Given the description of an element on the screen output the (x, y) to click on. 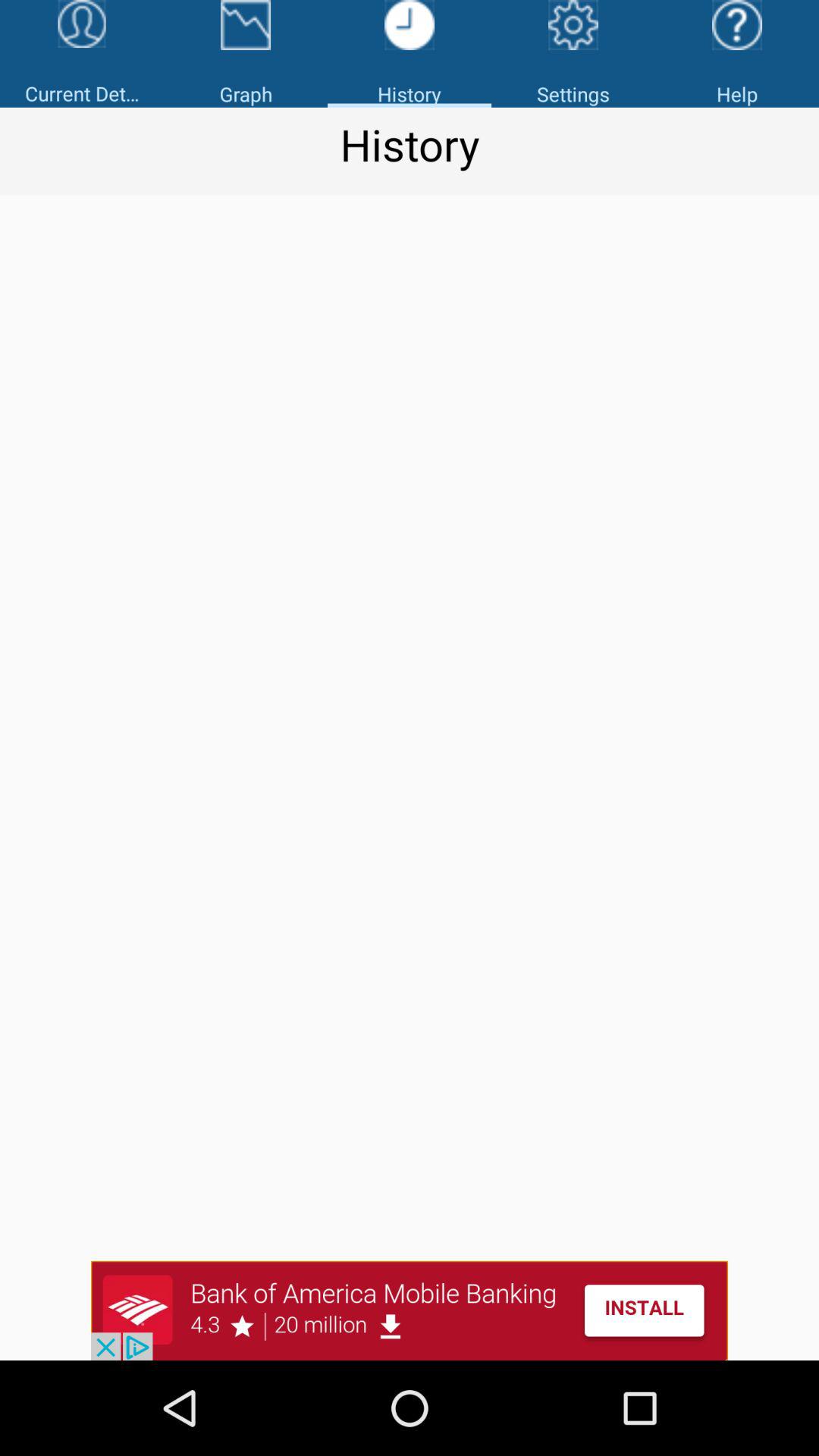
add the option (409, 1310)
